Given the description of an element on the screen output the (x, y) to click on. 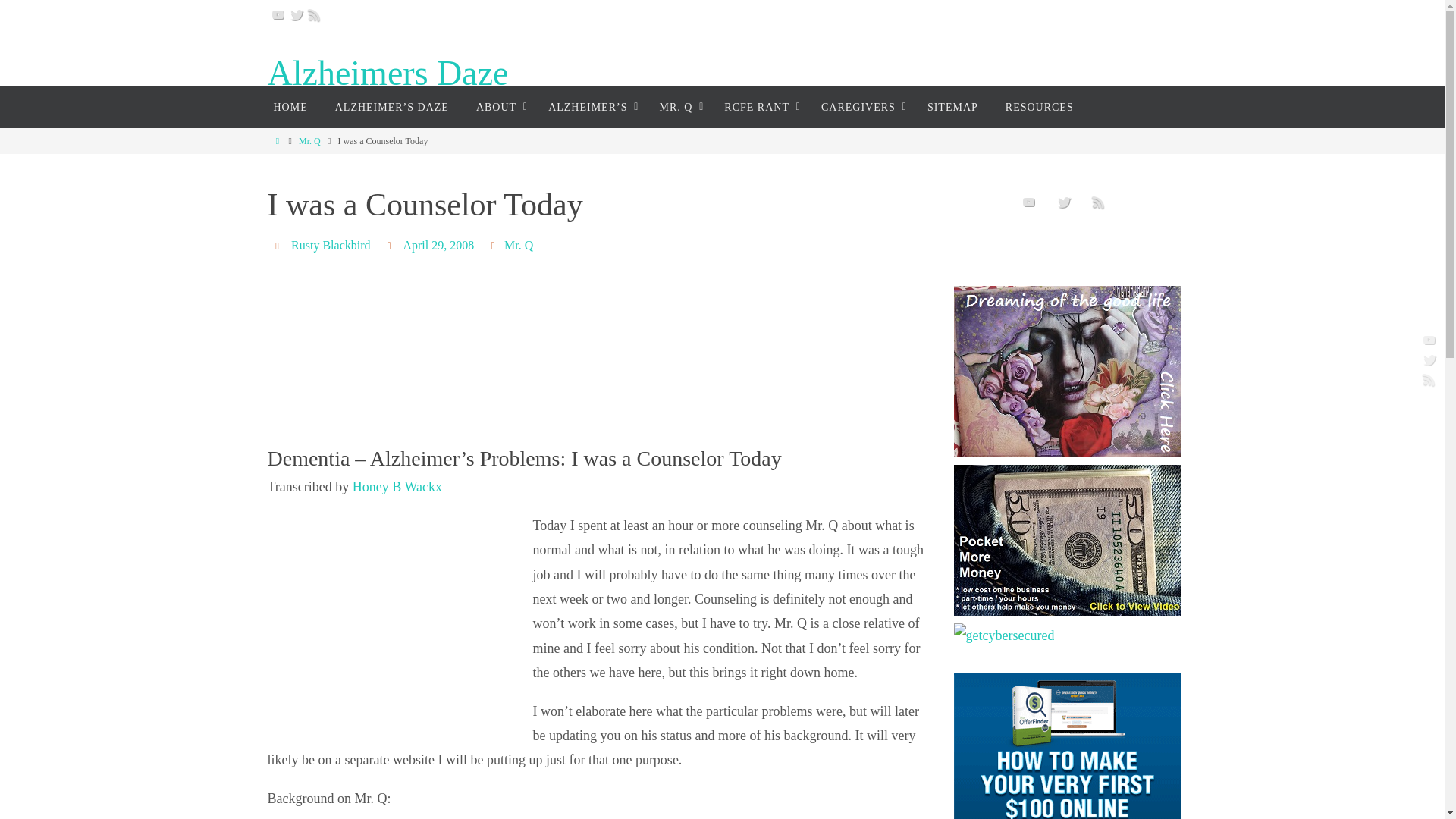
Advertisement (400, 624)
YouTube (277, 14)
ABOUT (498, 106)
RCFE RANT (759, 106)
RSS (1429, 378)
YouTube (1429, 339)
View all posts by Rusty Blackbird (330, 245)
Twitter (1429, 359)
HOME (289, 106)
Categories (493, 245)
